Given the description of an element on the screen output the (x, y) to click on. 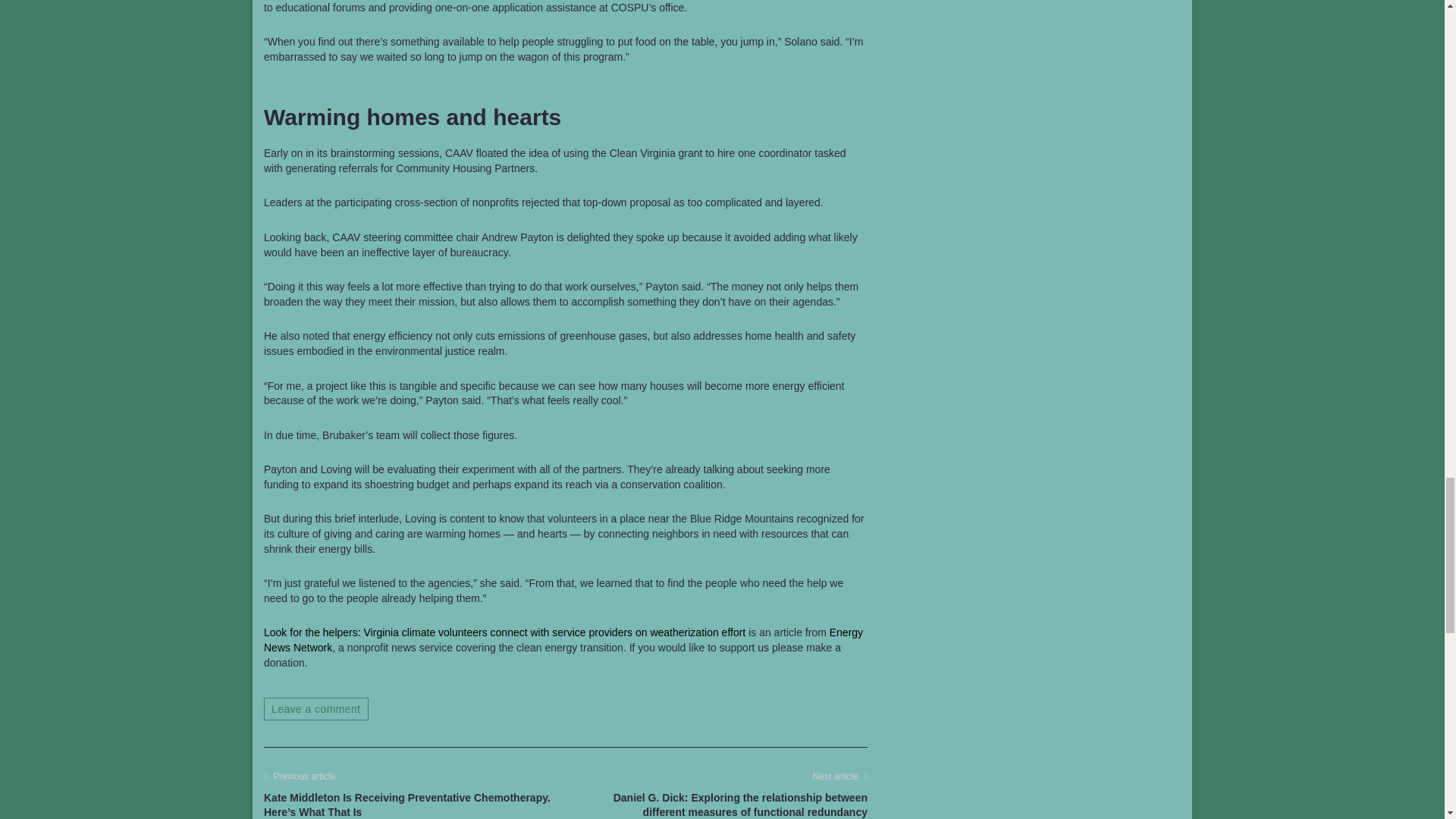
Leave a comment (315, 708)
Energy News Network (563, 639)
